Given the description of an element on the screen output the (x, y) to click on. 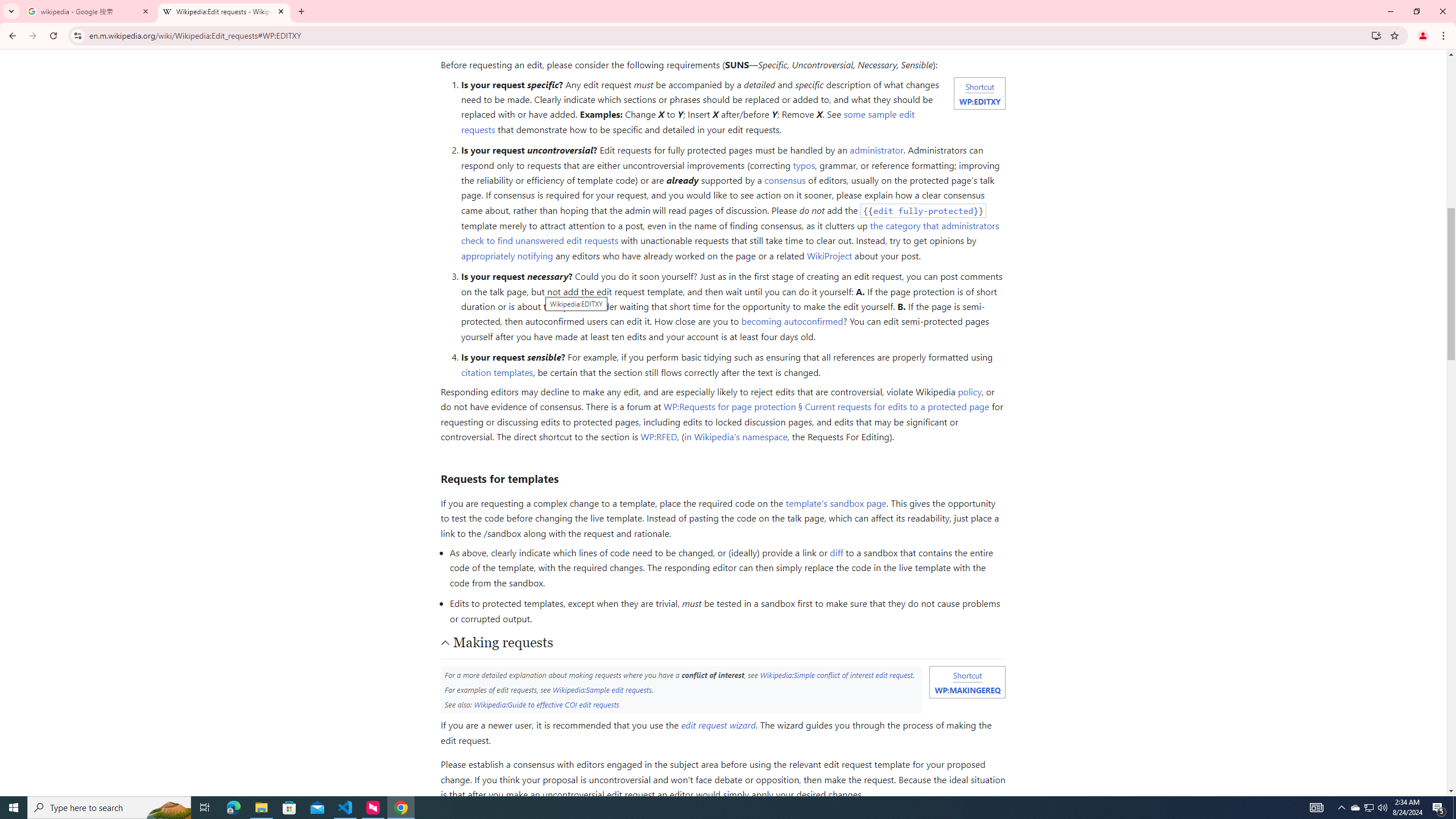
Shortcut (967, 674)
WP:EDITXY (979, 100)
Wikipedia:Edit requests - Wikipedia (224, 11)
typos (804, 164)
Wikipedia:Guide to effective COI edit requests (545, 703)
policy (969, 390)
template's sandbox page (835, 502)
